Given the description of an element on the screen output the (x, y) to click on. 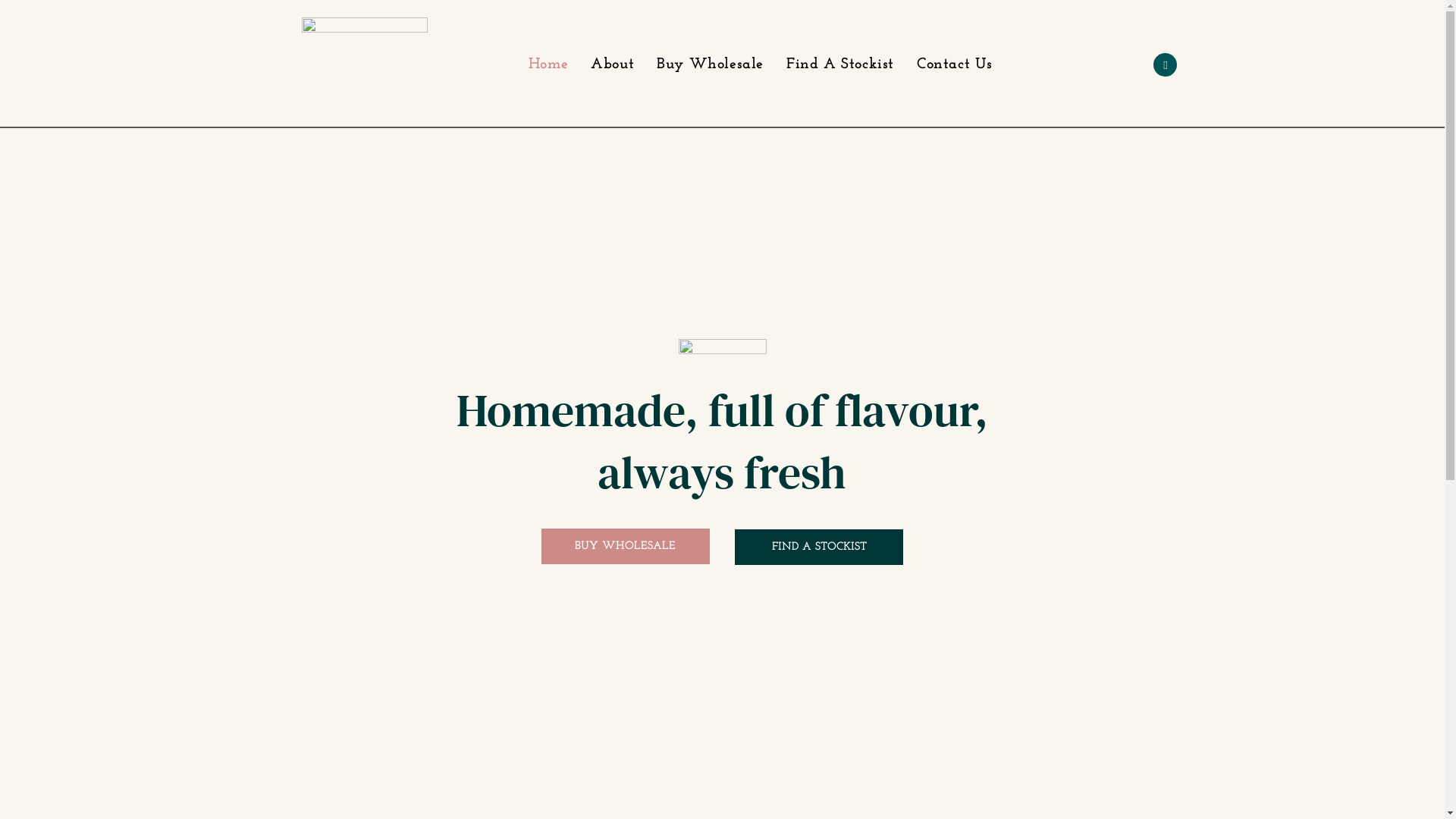
Contact Us Element type: text (954, 64)
BUY WHOLESALE Element type: text (625, 546)
About Element type: text (612, 64)
Buy Wholesale Element type: text (710, 64)
FIND A STOCKIST Element type: text (818, 546)
Home Element type: text (548, 64)
Find A Stockist Element type: text (840, 64)
